Given the description of an element on the screen output the (x, y) to click on. 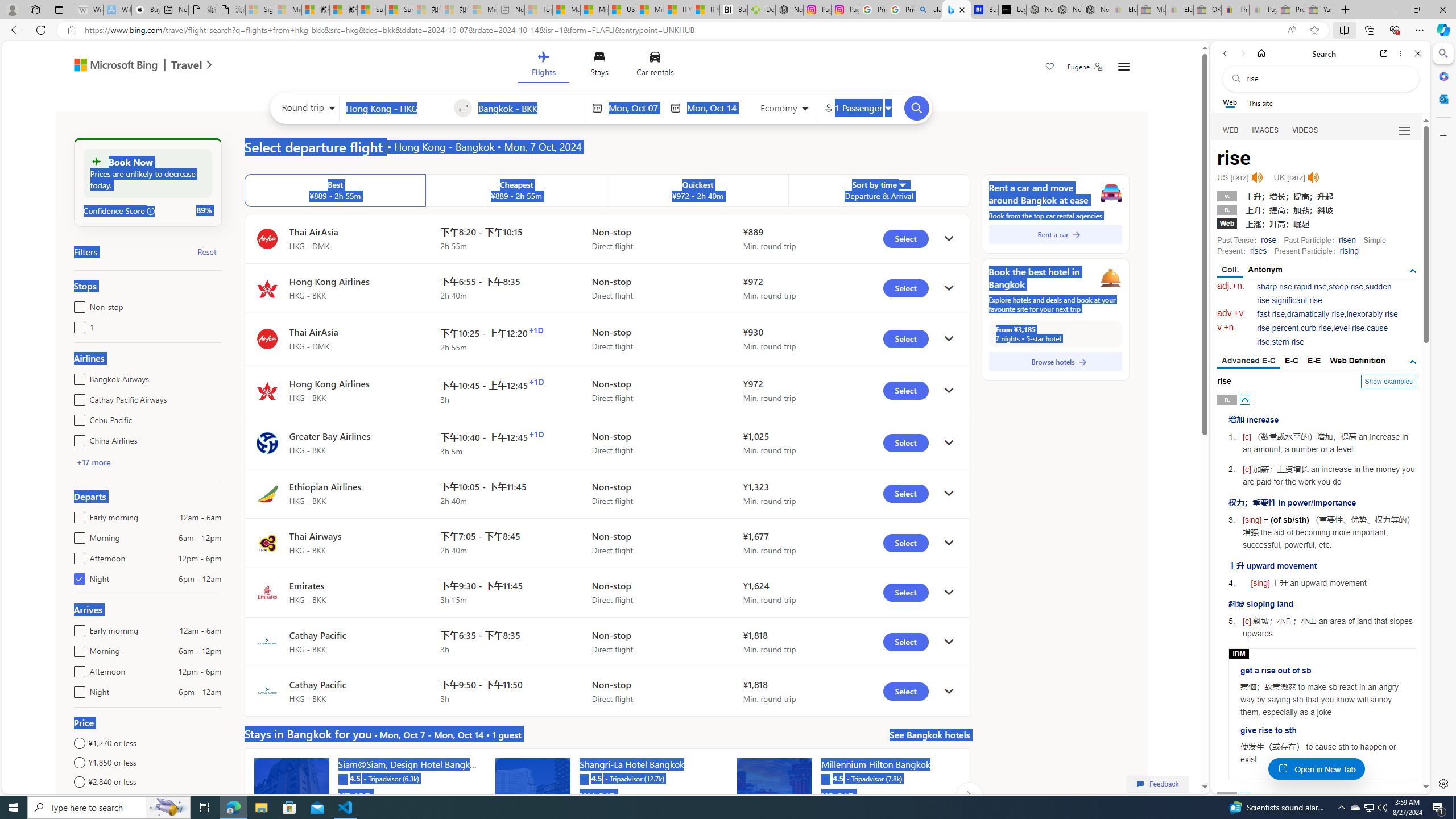
click to get details (948, 691)
Rent a car (1055, 234)
Info tooltip (151, 211)
Tripadvisor (825, 777)
rises (1257, 250)
1 Passenger (857, 108)
